Given the description of an element on the screen output the (x, y) to click on. 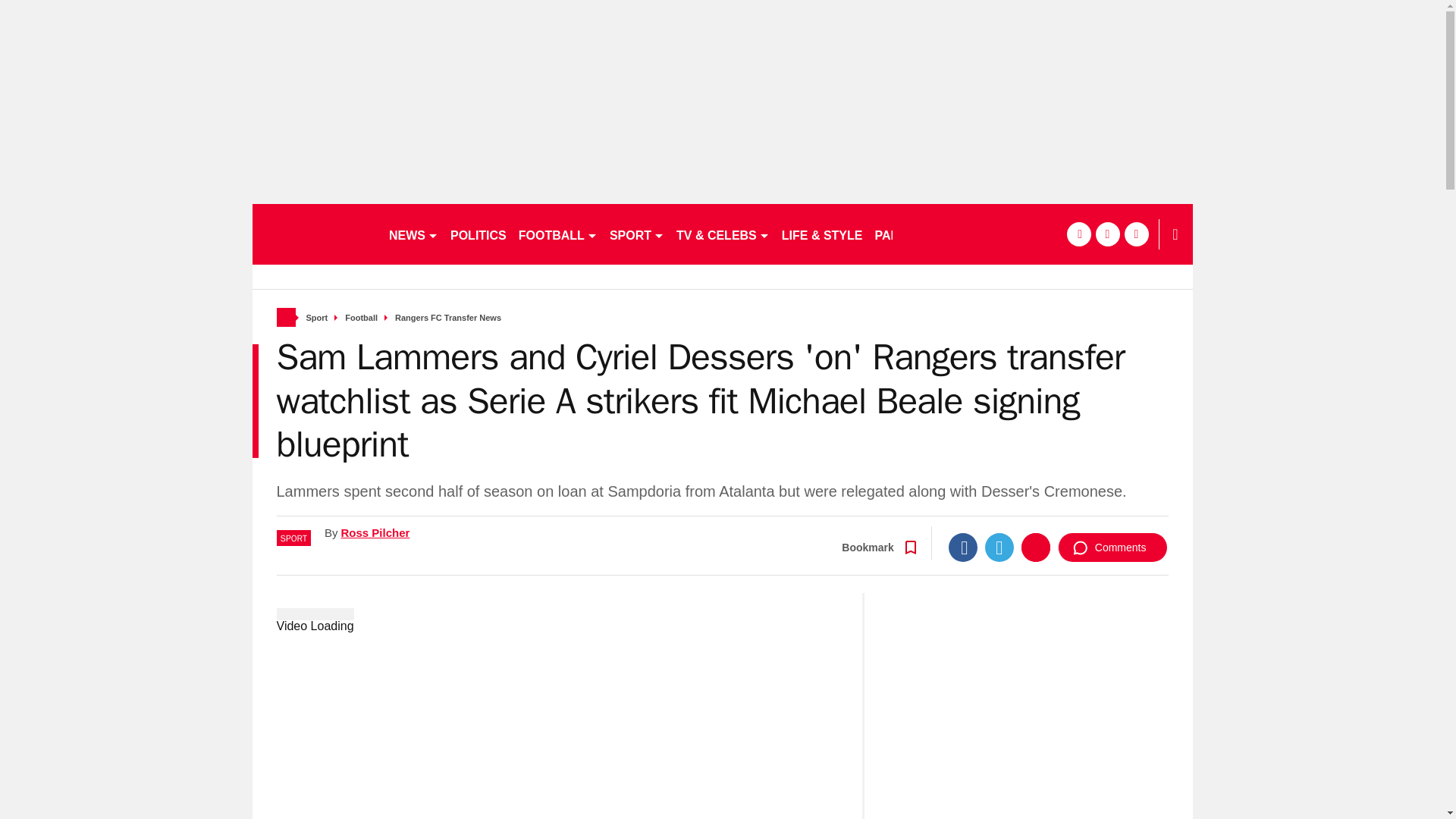
SPORT (636, 233)
POLITICS (478, 233)
facebook (1077, 233)
dailyrecord (313, 233)
Facebook (962, 547)
Comments (1112, 547)
Twitter (999, 547)
instagram (1136, 233)
twitter (1106, 233)
FOOTBALL (558, 233)
NEWS (413, 233)
